Given the description of an element on the screen output the (x, y) to click on. 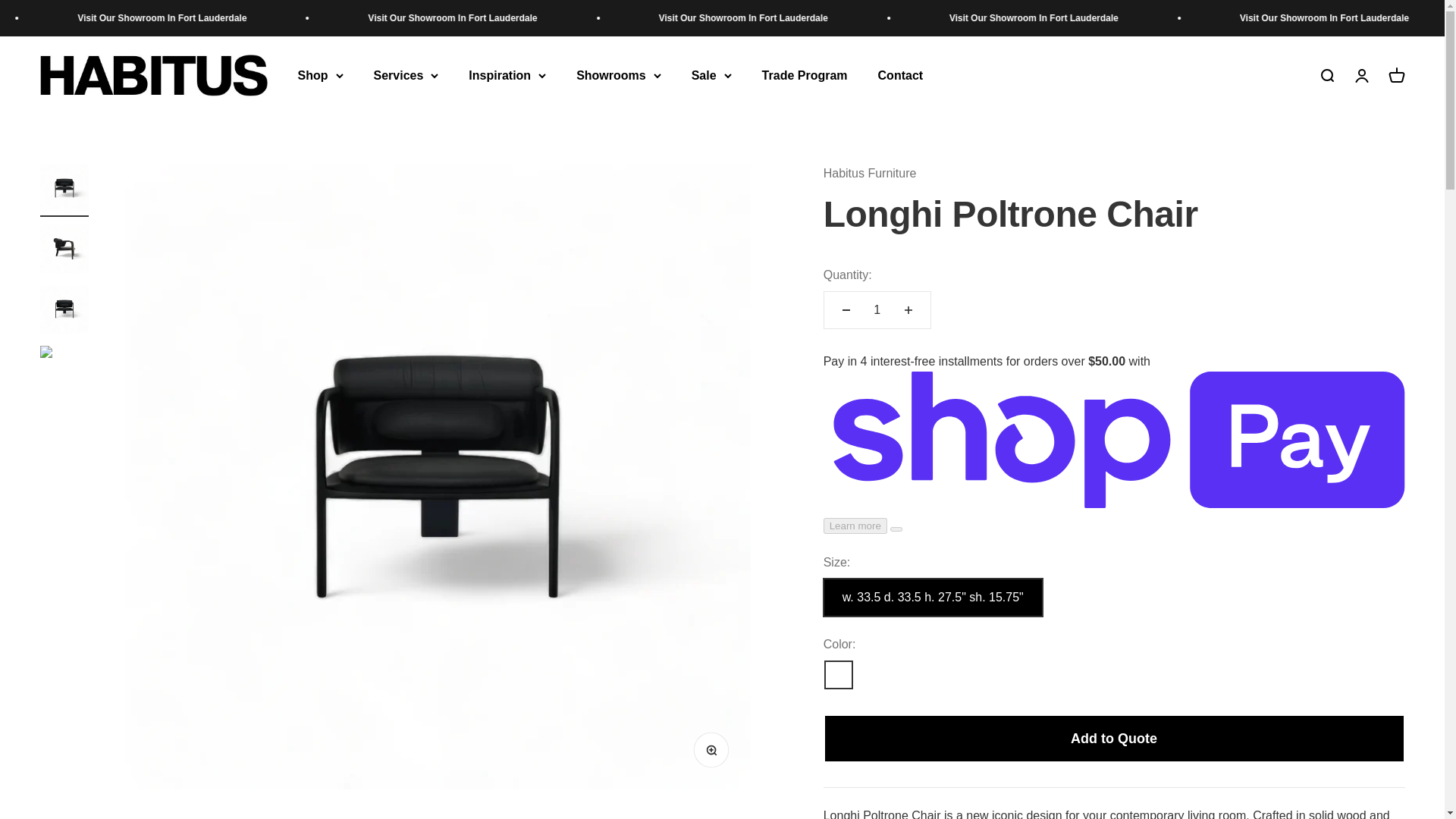
Visit Our Showroom In Fort Lauderdale (208, 18)
Visit Our Showroom In Fort Lauderdale (785, 18)
Visit Our Showroom In Fort Lauderdale (1074, 18)
Visit Our Showroom In Fort Lauderdale (497, 18)
